Given the description of an element on the screen output the (x, y) to click on. 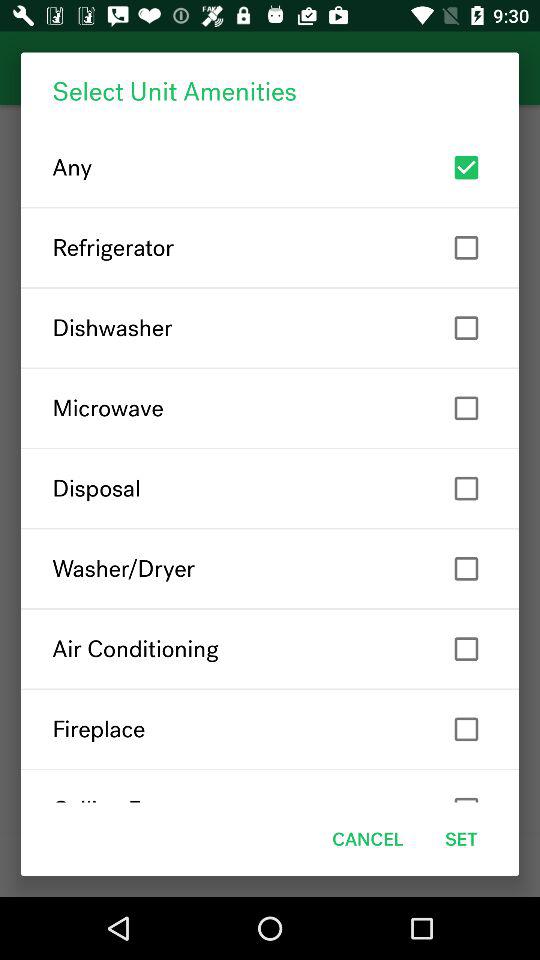
click the item below the dishwasher item (270, 408)
